Given the description of an element on the screen output the (x, y) to click on. 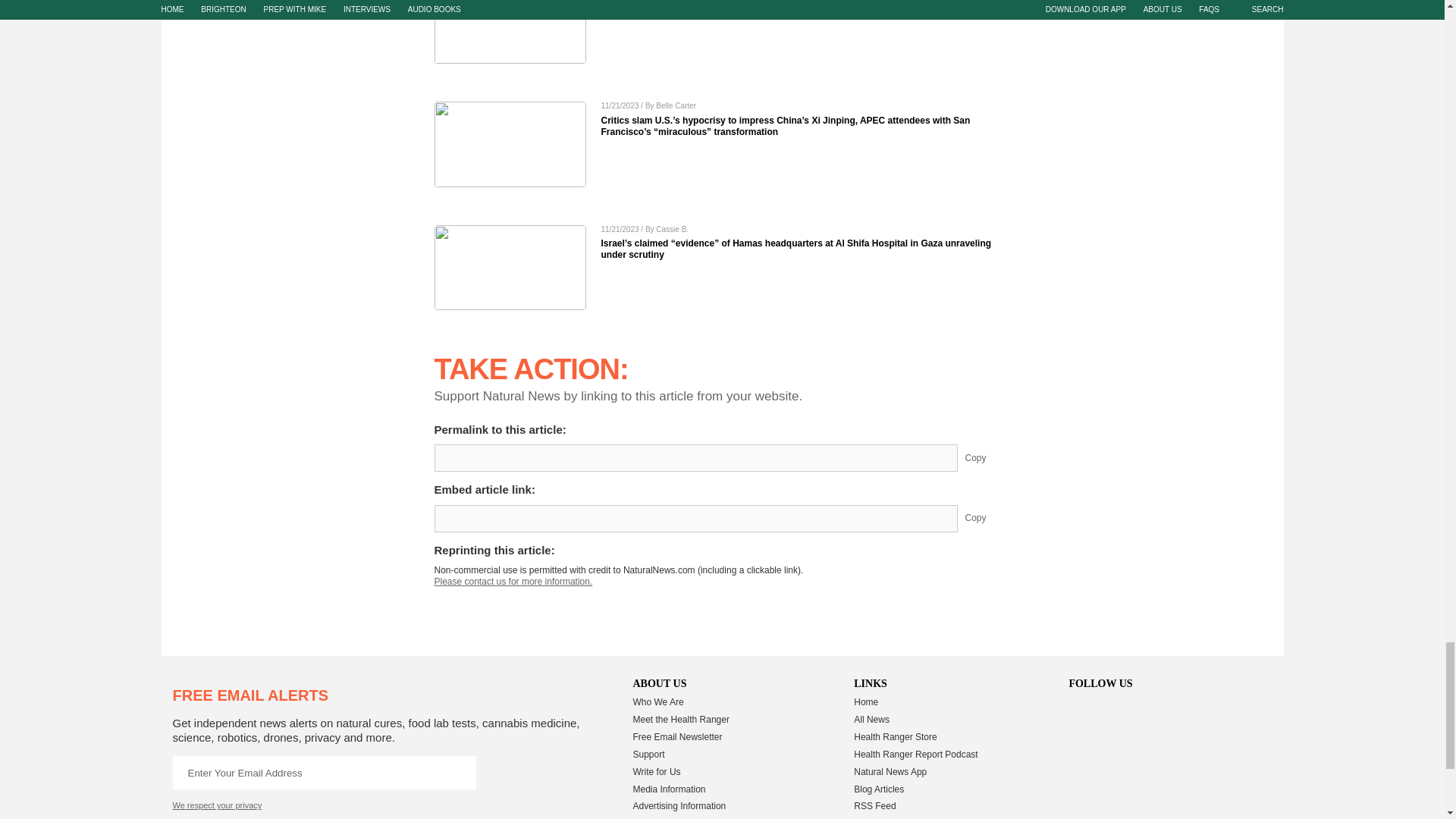
Copy Permalink (986, 457)
Continue (459, 772)
Copy Embed Link (986, 518)
